Given the description of an element on the screen output the (x, y) to click on. 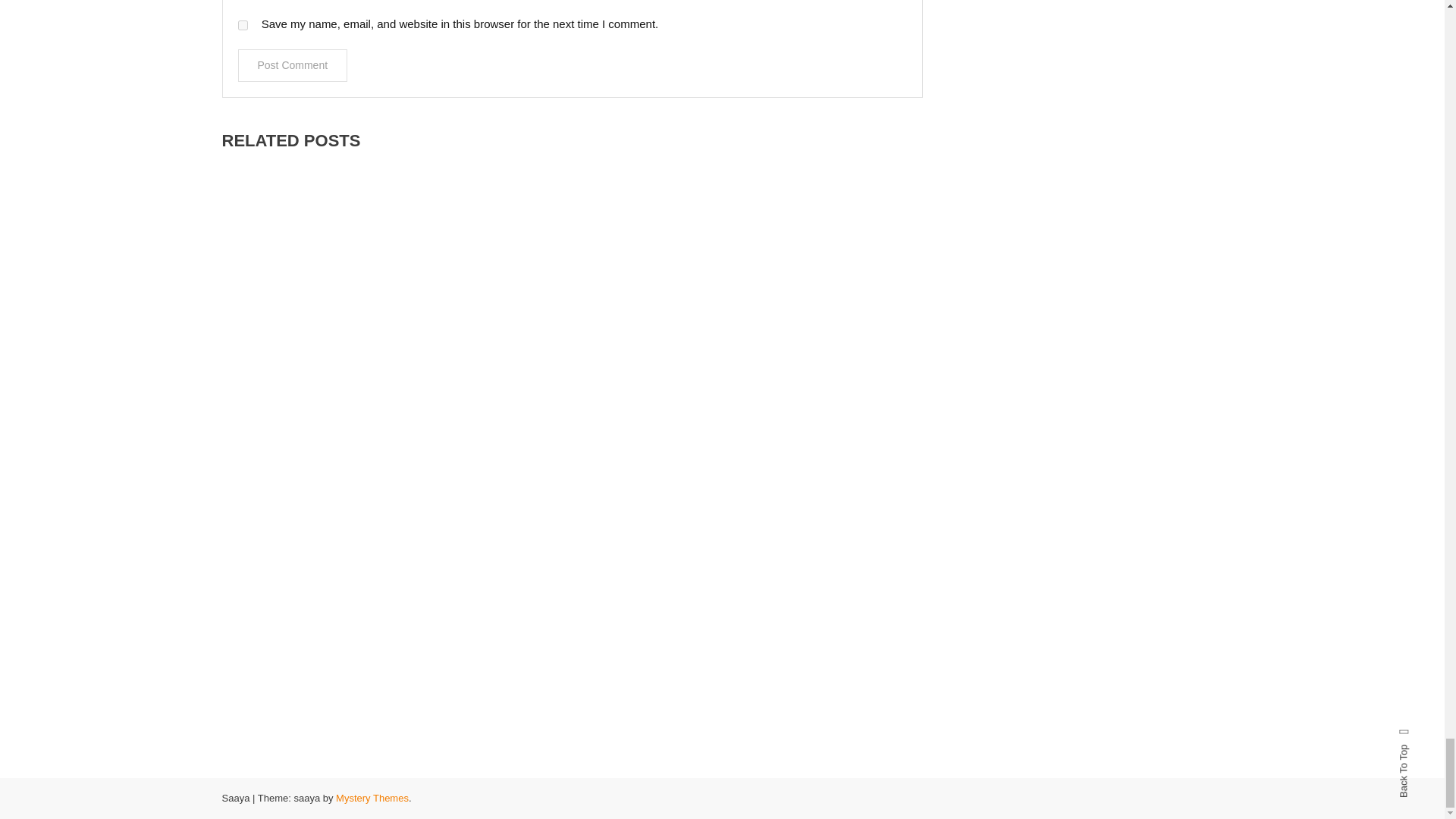
Post Comment (292, 65)
yes (242, 25)
